Given the description of an element on the screen output the (x, y) to click on. 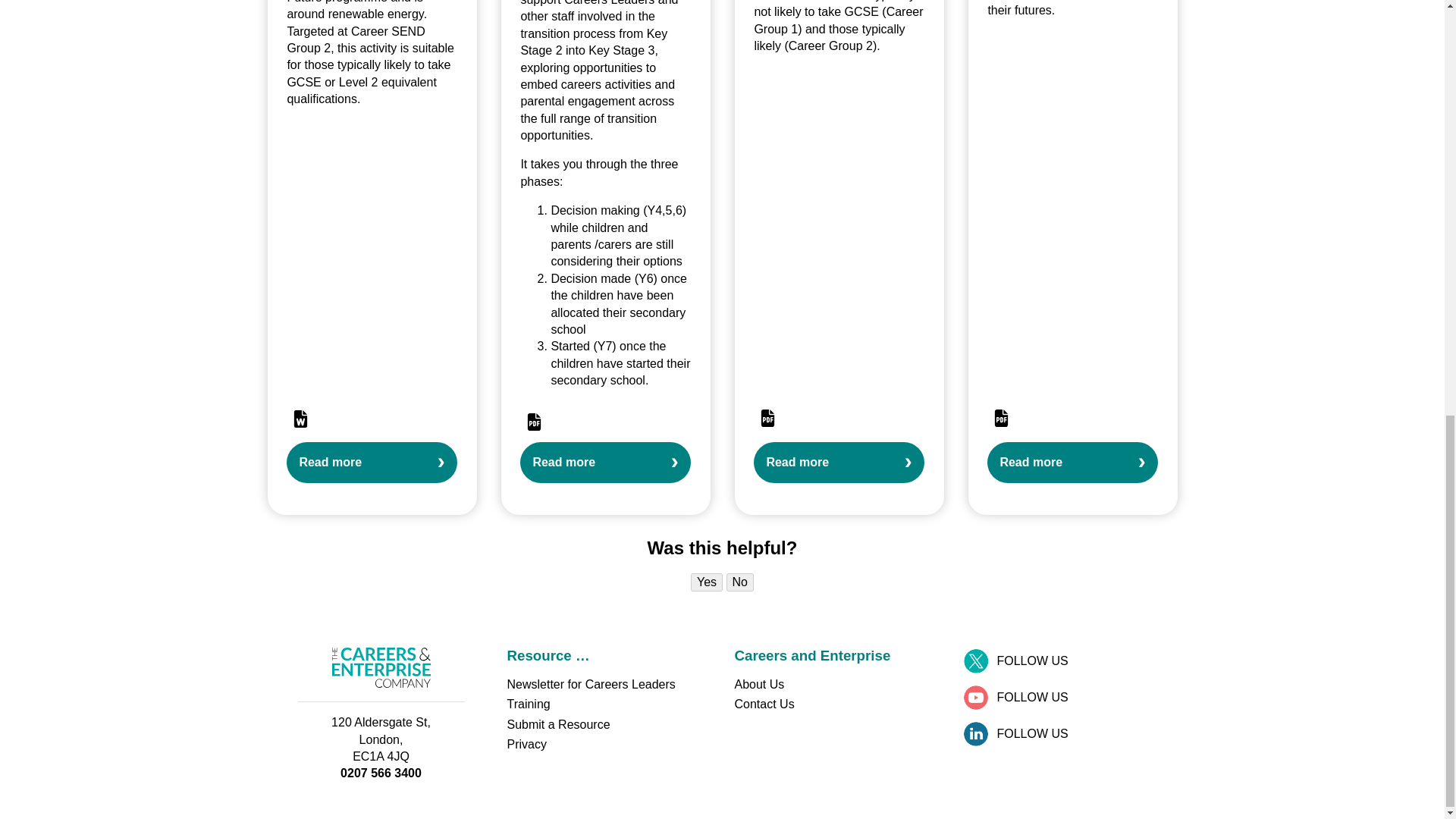
About Us (758, 684)
PDF (534, 421)
FOLLOW US (1062, 733)
FOLLOW US (1062, 660)
Training (528, 703)
The evidence base for careers websites. What works? (1072, 462)
MSMF Employer projects: BAM NUTTAL  renewable energy  (371, 462)
Contact Us (763, 703)
PDF (767, 417)
Pathways Posters - My Skills My Future  (838, 462)
No (740, 582)
FOLLOW US (1062, 697)
Privacy (526, 744)
Yes (706, 582)
PDF (1000, 417)
